Given the description of an element on the screen output the (x, y) to click on. 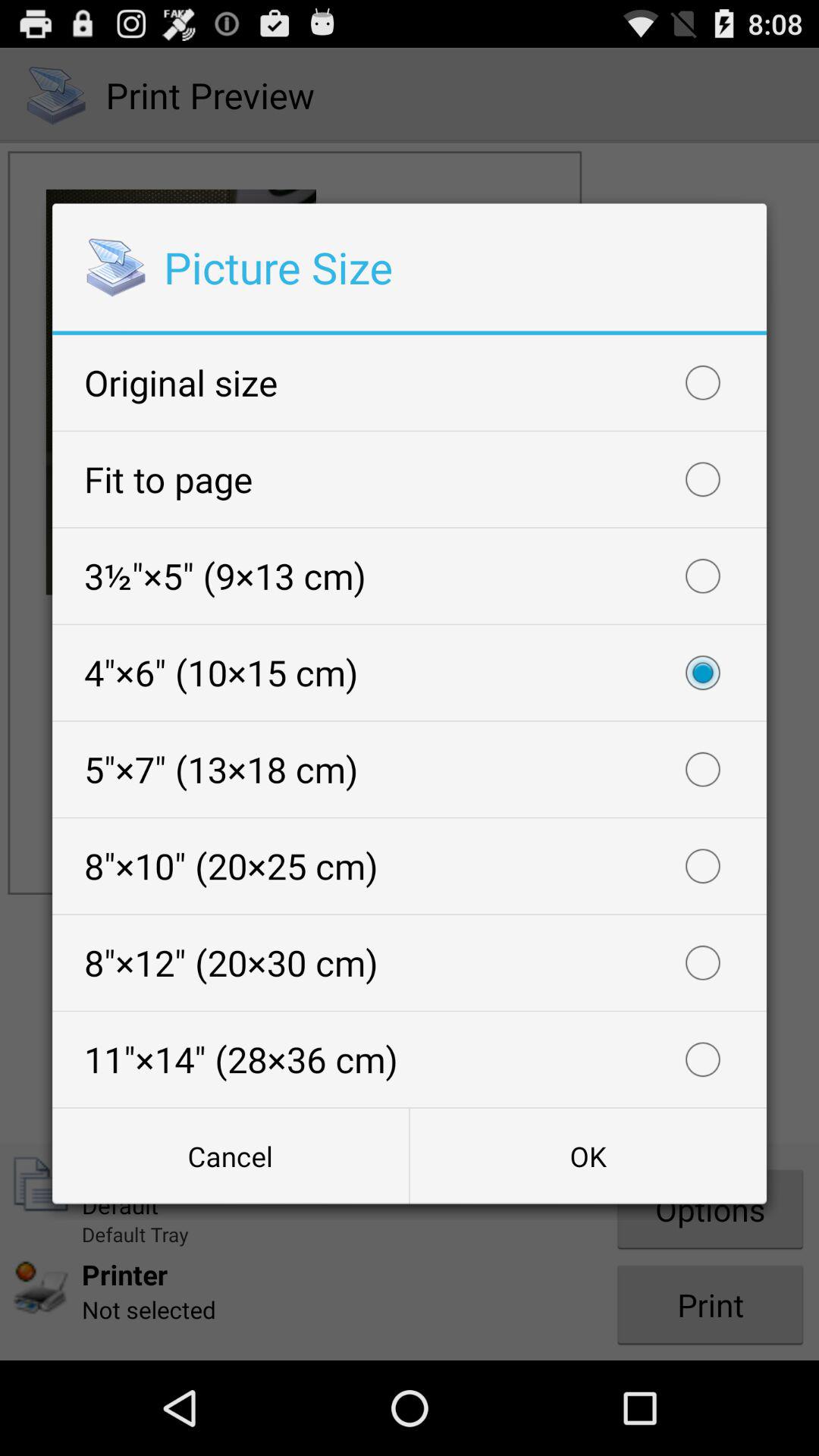
open the icon below the 11 14 28 (230, 1156)
